Given the description of an element on the screen output the (x, y) to click on. 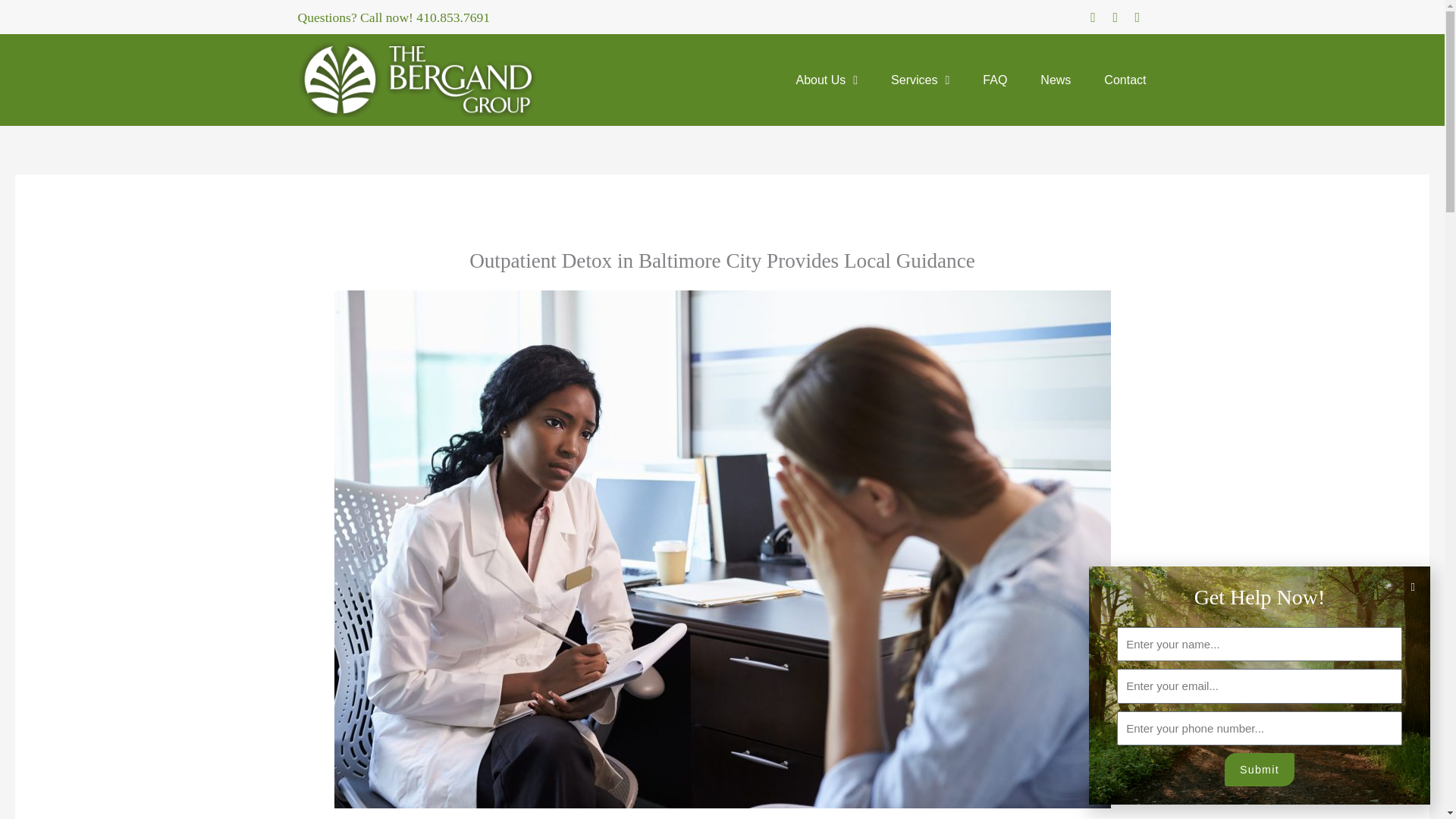
News (1055, 80)
About Us (826, 80)
Instagram (1114, 16)
Facebook (1092, 16)
Services (919, 80)
Twitter (1136, 16)
Contact (1125, 80)
